Given the description of an element on the screen output the (x, y) to click on. 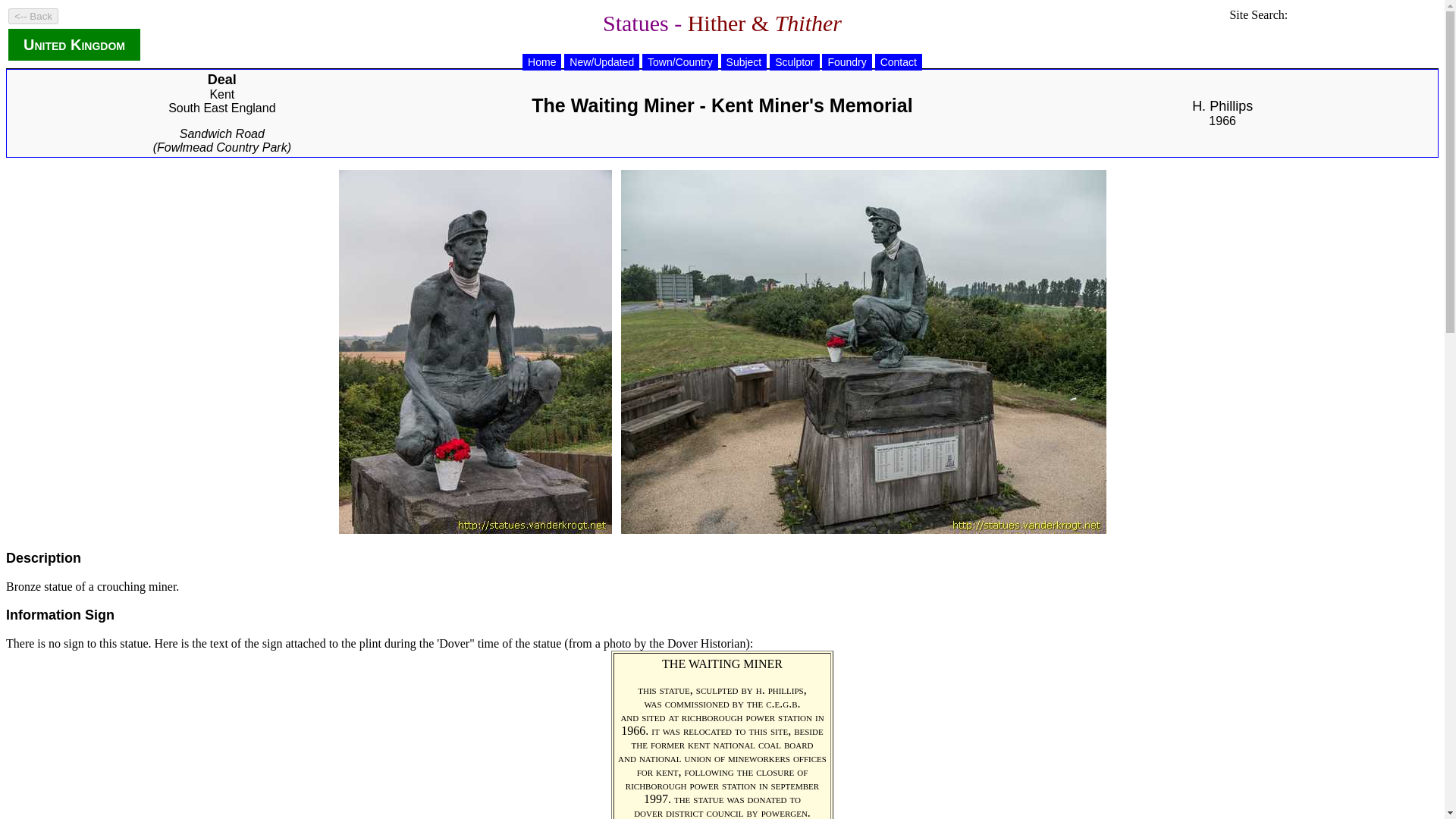
Deal (221, 79)
United Kingdom (74, 44)
Home (541, 62)
Sculptor (794, 62)
South East England (221, 114)
H. Phillips (1222, 105)
Kent (222, 101)
Contact (898, 62)
Foundry (846, 62)
Subject (743, 62)
